Given the description of an element on the screen output the (x, y) to click on. 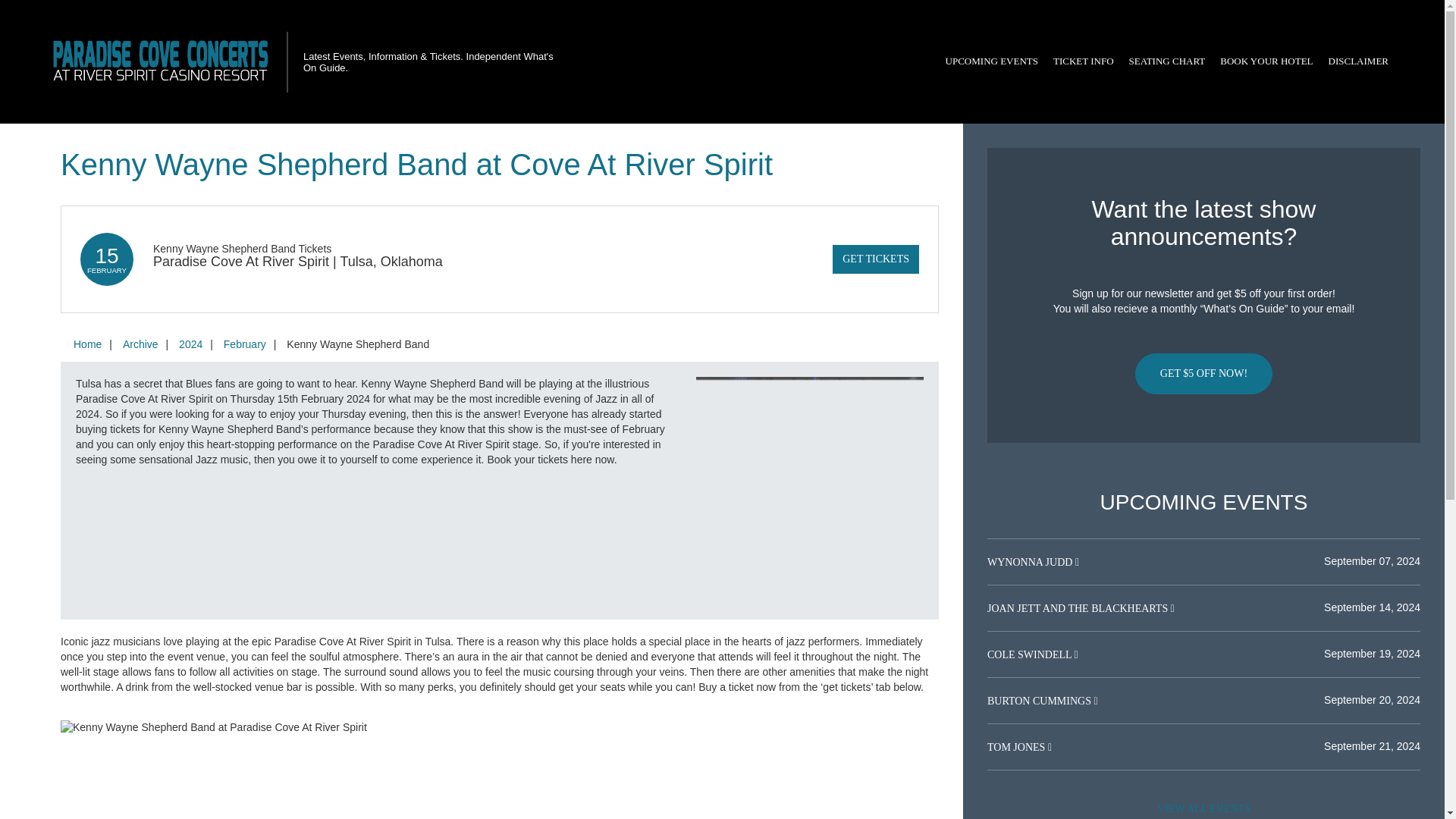
JOAN JETT AND THE BLACKHEARTS (1078, 608)
WYNONNA JUDD (1031, 562)
February (244, 344)
Home (87, 344)
COLE SWINDELL (1030, 654)
BOOK YOUR HOTEL (1266, 61)
BURTON CUMMINGS (1040, 700)
Archive (140, 344)
DISCLAIMER (1358, 61)
GET TICKETS (875, 258)
